Given the description of an element on the screen output the (x, y) to click on. 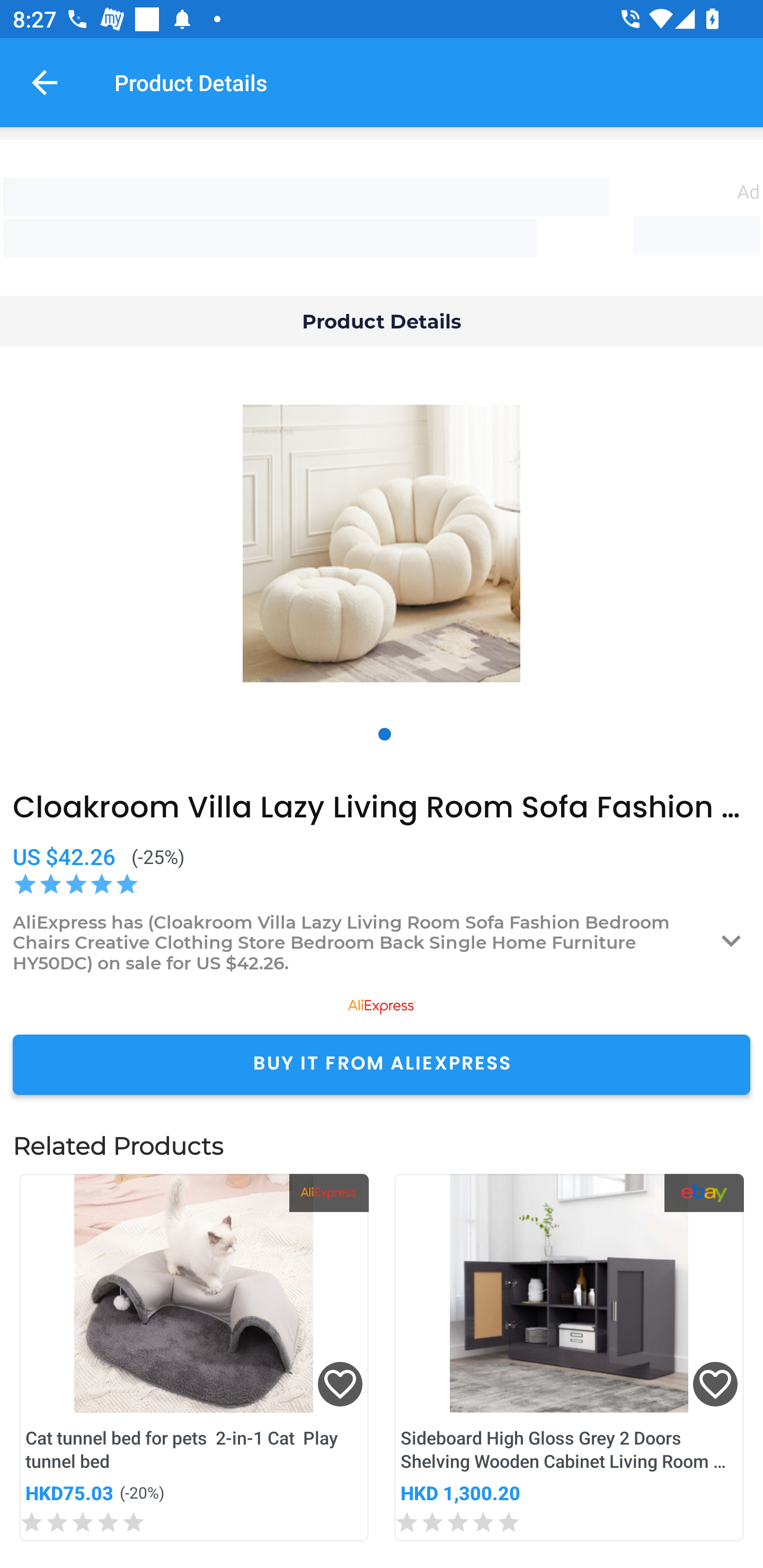
Navigate up (44, 82)
BUY IT FROM ALIEXPRESS (381, 1064)
